Given the description of an element on the screen output the (x, y) to click on. 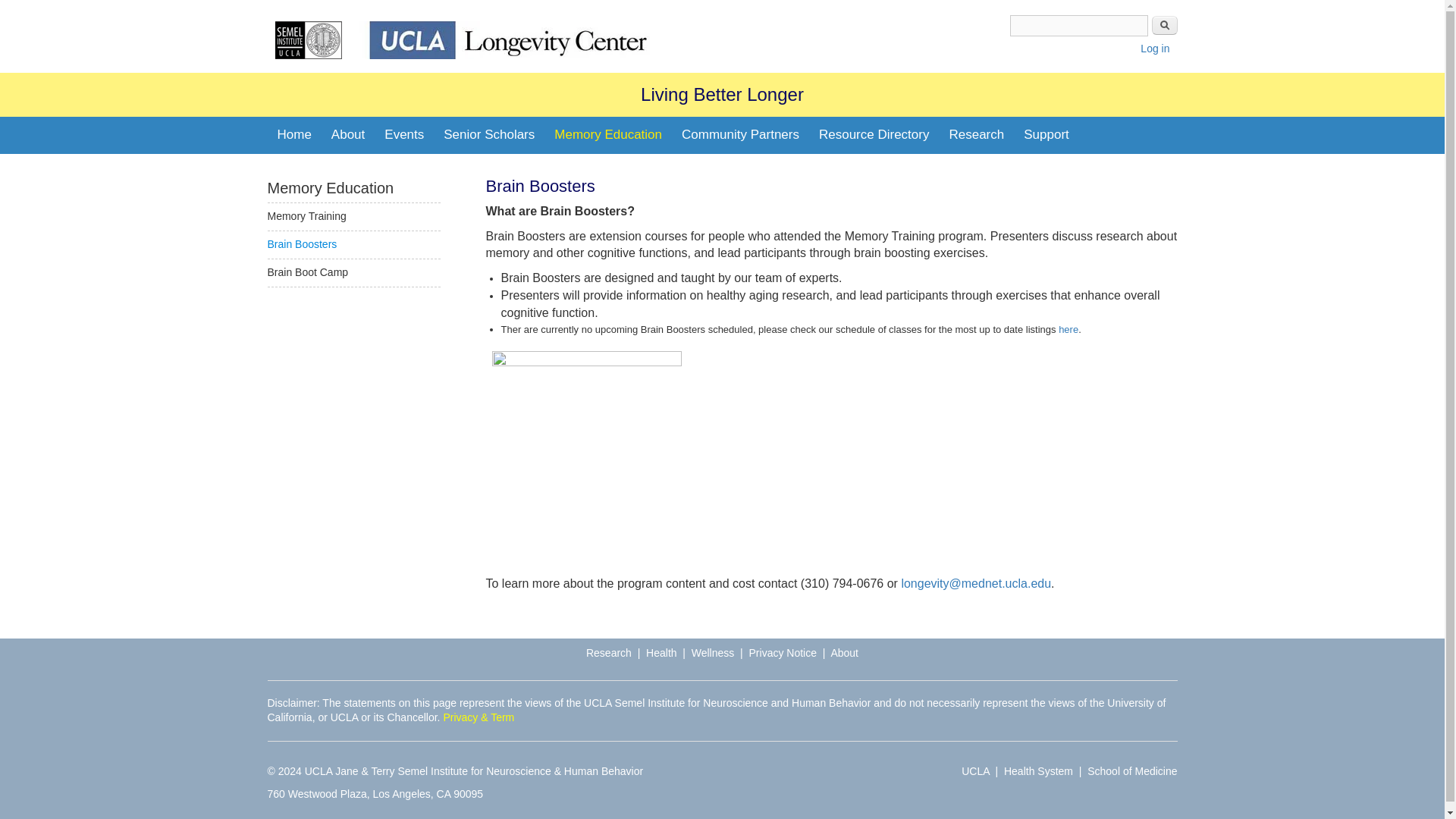
UCLA Hospitals and Health Services (1038, 770)
Senior Scholars (488, 135)
Memory Education (607, 135)
Log in (1154, 48)
David Geffen School of Medicine at UCLA (1131, 770)
About (347, 135)
Research (976, 135)
Support (1045, 135)
Search (1163, 25)
Search (1163, 25)
